Given the description of an element on the screen output the (x, y) to click on. 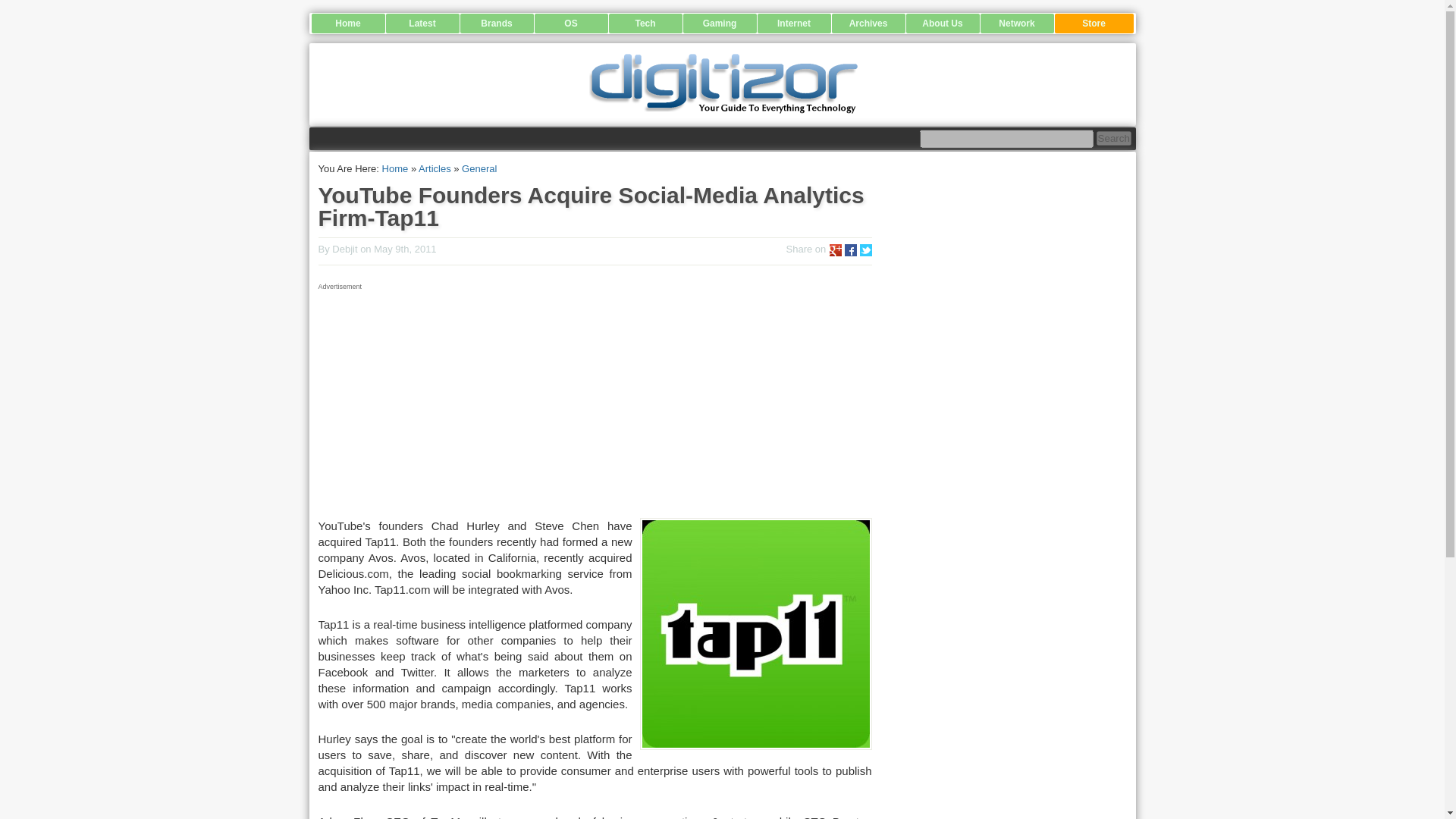
Tech (644, 23)
OS (570, 23)
Network (1015, 23)
Internet (793, 23)
Articles (435, 168)
share this post on Facebook (850, 250)
Store (1093, 23)
share on tw (866, 250)
YouTube Founders Acquire Social-Media Analytics Firm-Tap11 (591, 206)
Advertisement (595, 400)
